Given the description of an element on the screen output the (x, y) to click on. 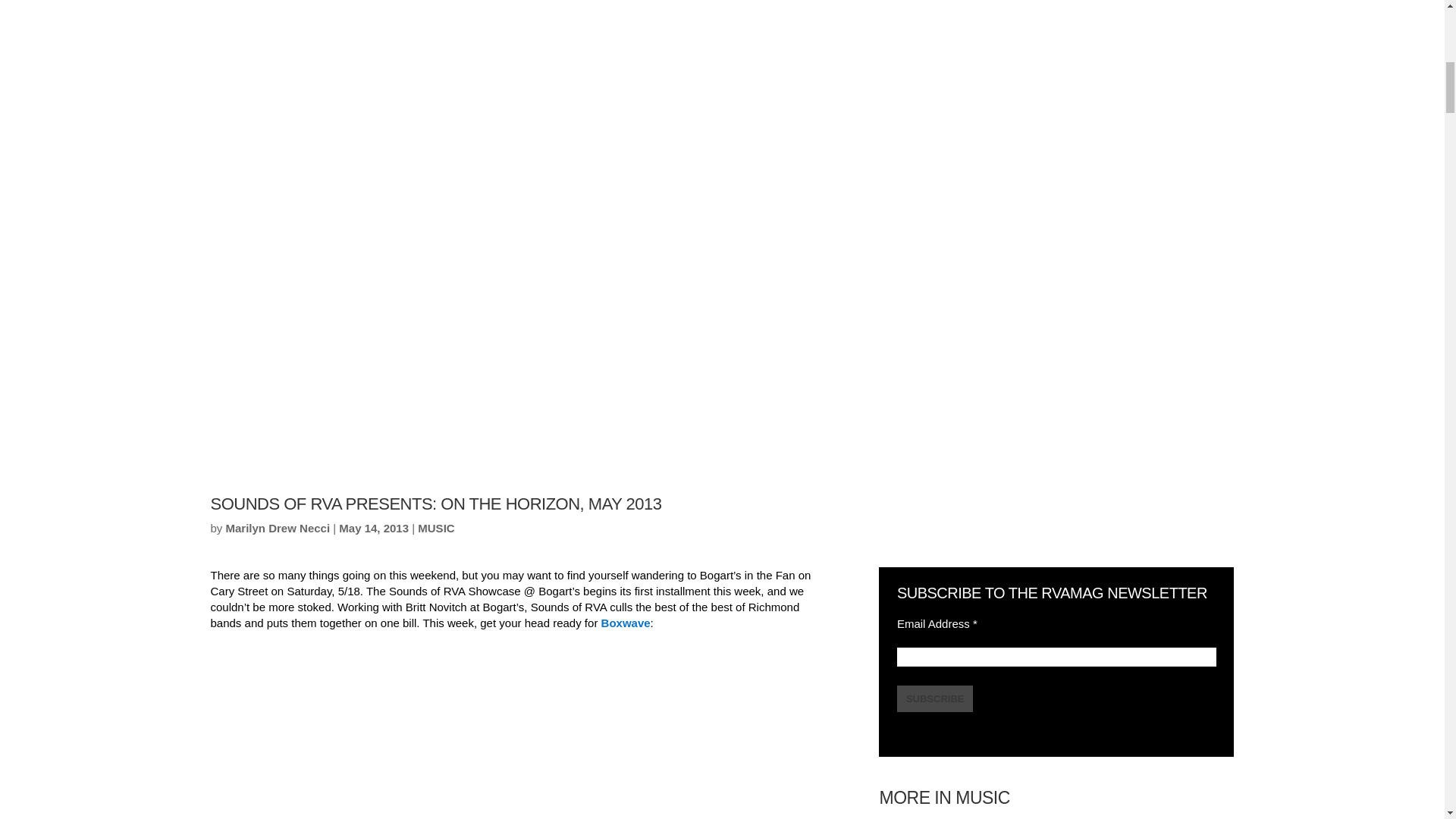
Marilyn Drew Necci (277, 527)
MUSIC (435, 527)
Subscribe (935, 698)
Boxwave (625, 622)
Posts by Marilyn Drew Necci (277, 527)
